Given the description of an element on the screen output the (x, y) to click on. 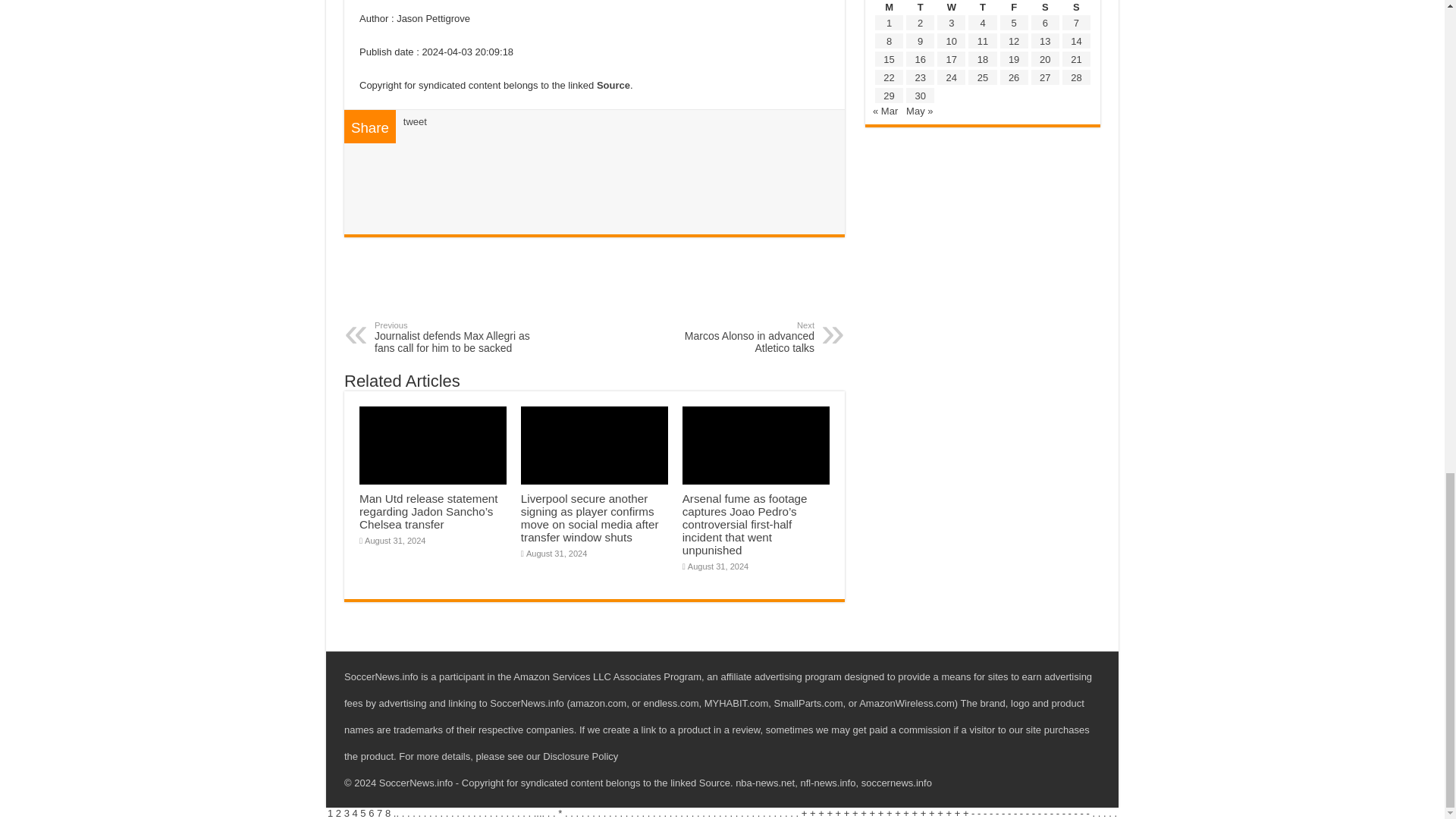
tweet (414, 121)
Tuesday (919, 7)
Monday (889, 7)
Source (613, 84)
Friday (736, 337)
Wednesday (1013, 7)
Sunday (951, 7)
